Given the description of an element on the screen output the (x, y) to click on. 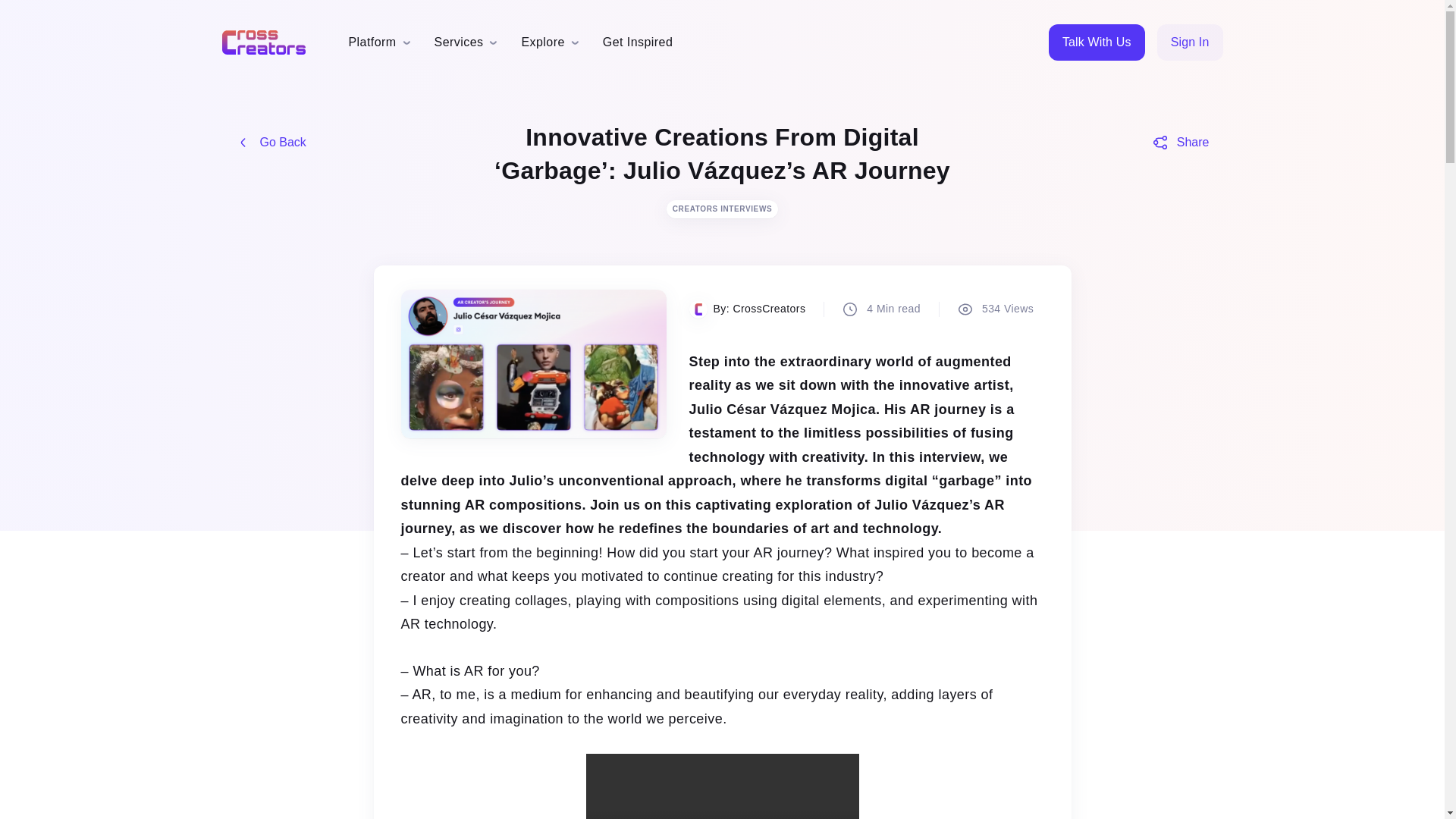
Platform (372, 42)
Services (458, 42)
Talk With Us (1096, 42)
Get Inspired (637, 42)
Go Back (269, 142)
Explore (542, 42)
Sign In (1190, 42)
